Given the description of an element on the screen output the (x, y) to click on. 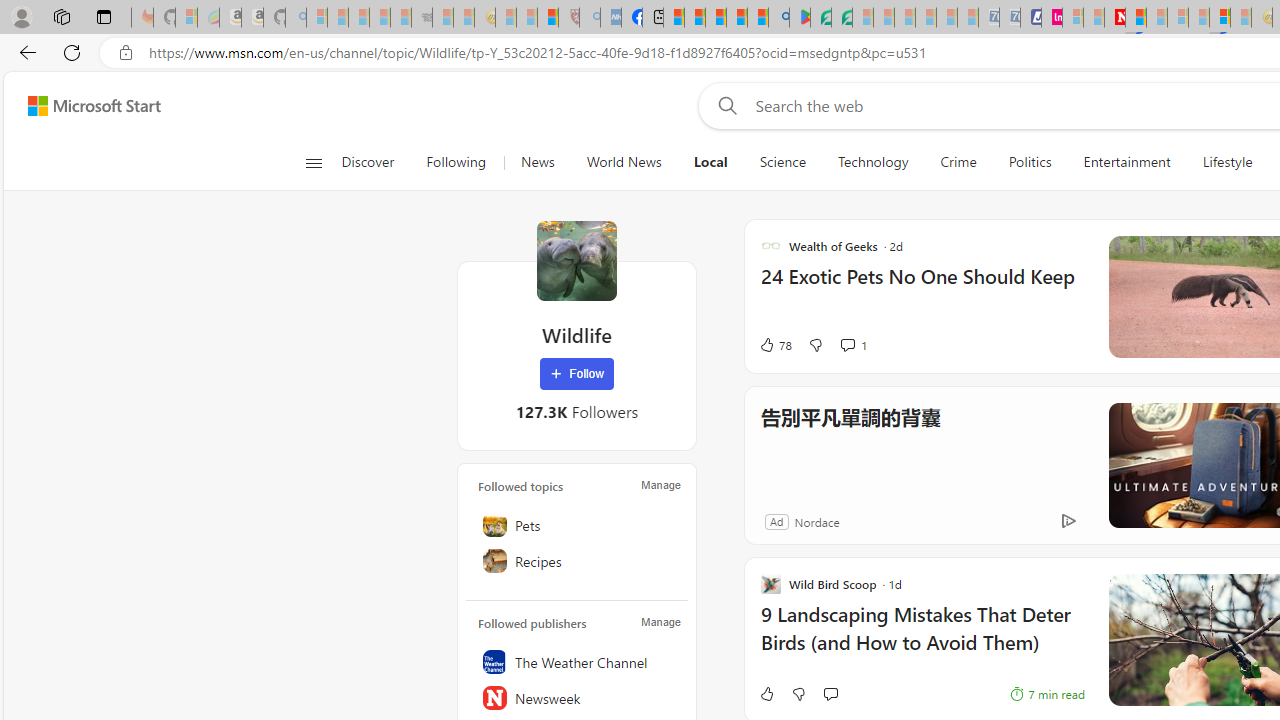
Recipes (577, 561)
Entertainment (1126, 162)
Manage (660, 621)
